Given the description of an element on the screen output the (x, y) to click on. 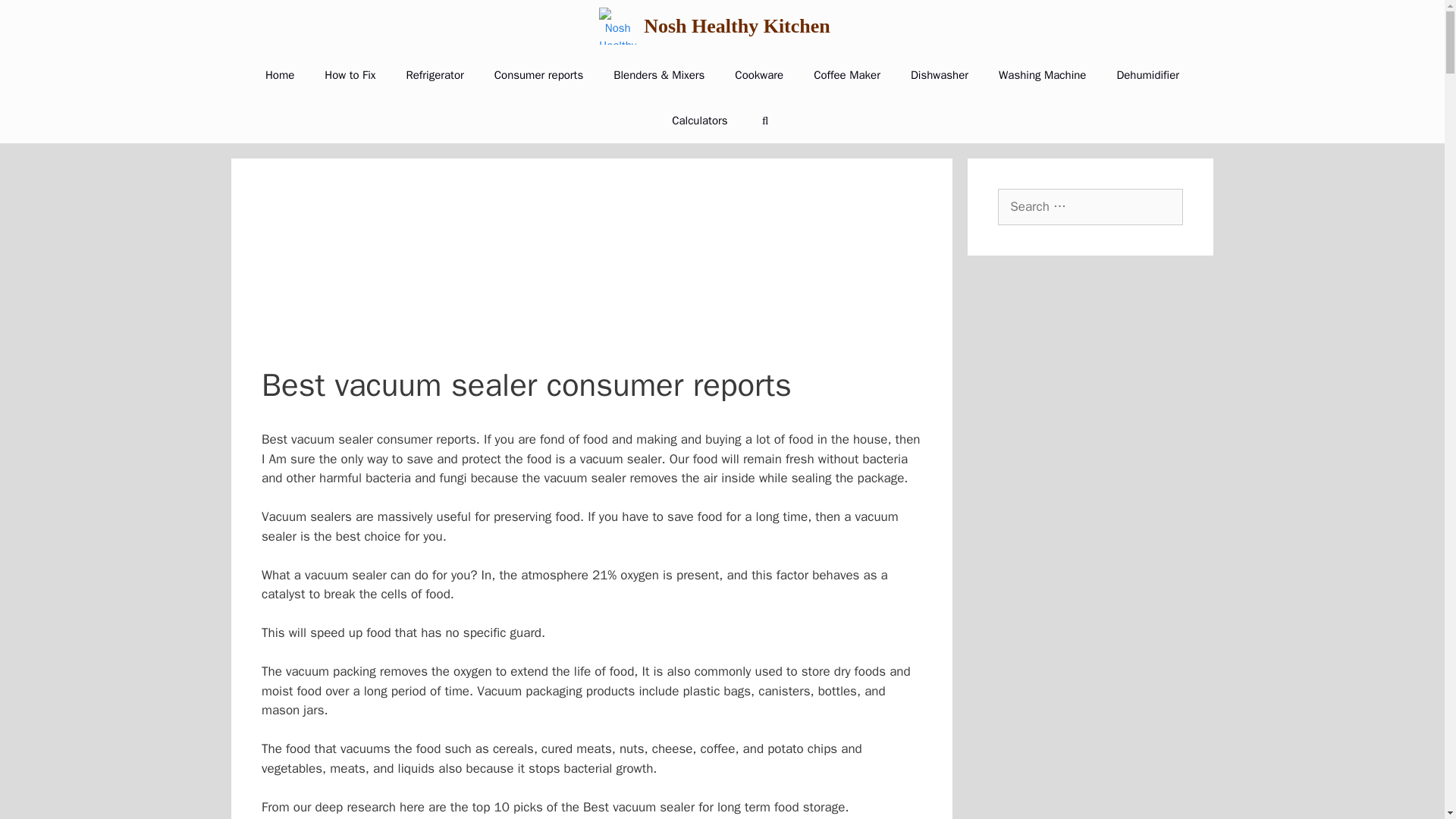
Nosh Healthy Kitchen (736, 26)
Dehumidifier (1146, 74)
Search for: (1089, 207)
Refrigerator (434, 74)
Consumer reports (538, 74)
Calculators (699, 120)
How to Fix (349, 74)
Coffee Maker (846, 74)
Washing Machine (1042, 74)
Cookware (758, 74)
